Given the description of an element on the screen output the (x, y) to click on. 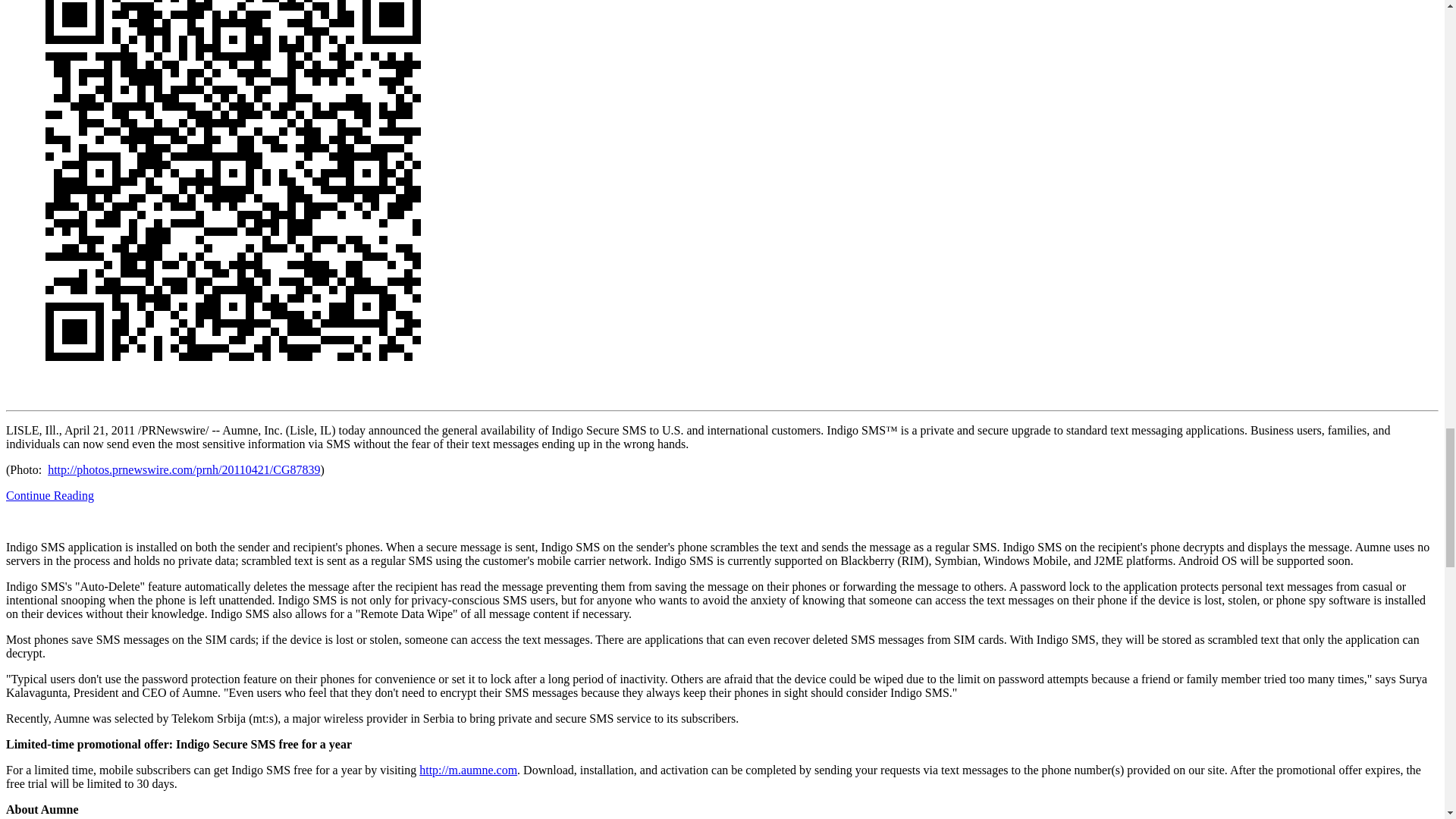
Continue Reading (49, 495)
